Given the description of an element on the screen output the (x, y) to click on. 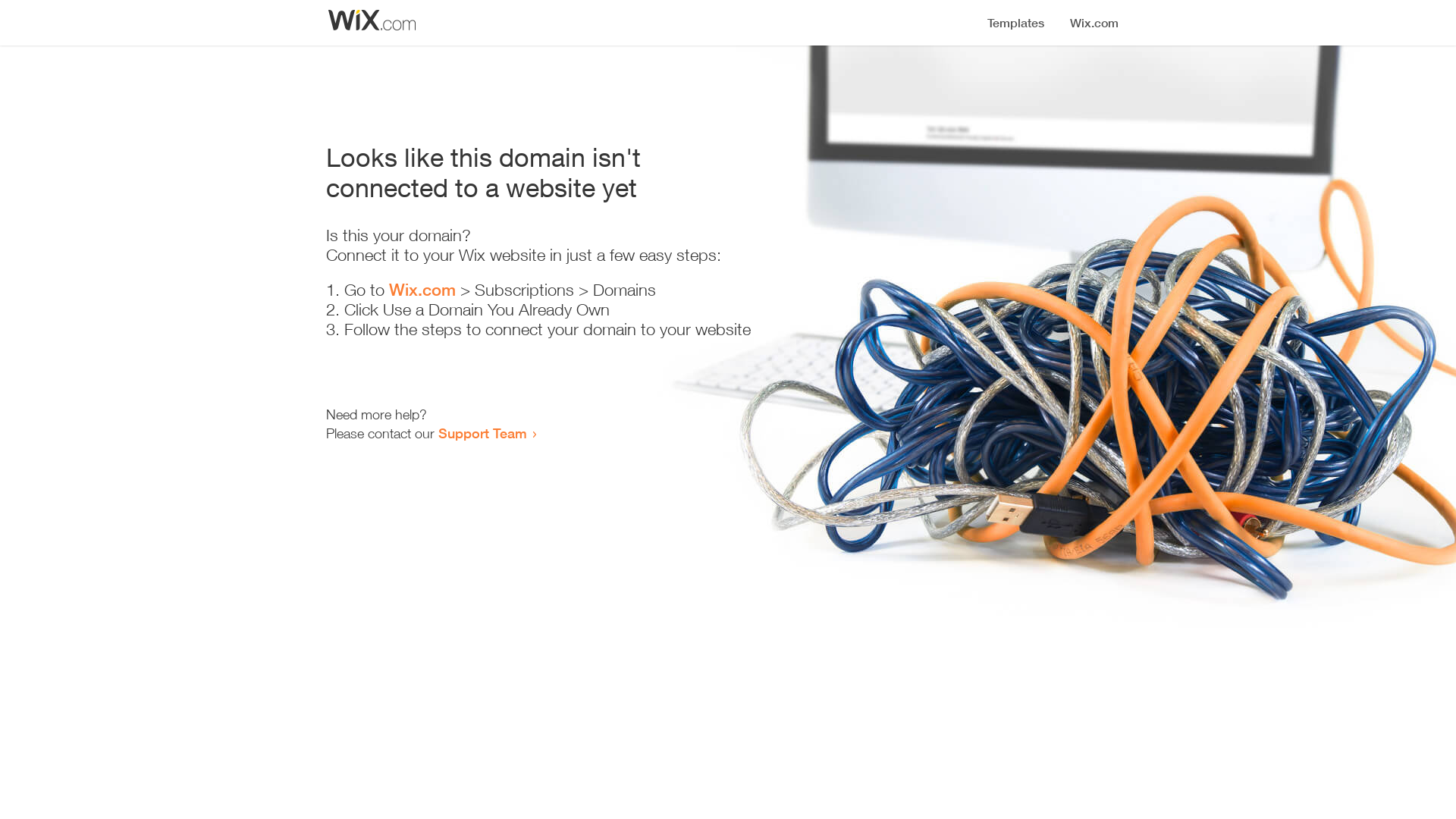
Support Team Element type: text (482, 432)
Wix.com Element type: text (422, 289)
